Given the description of an element on the screen output the (x, y) to click on. 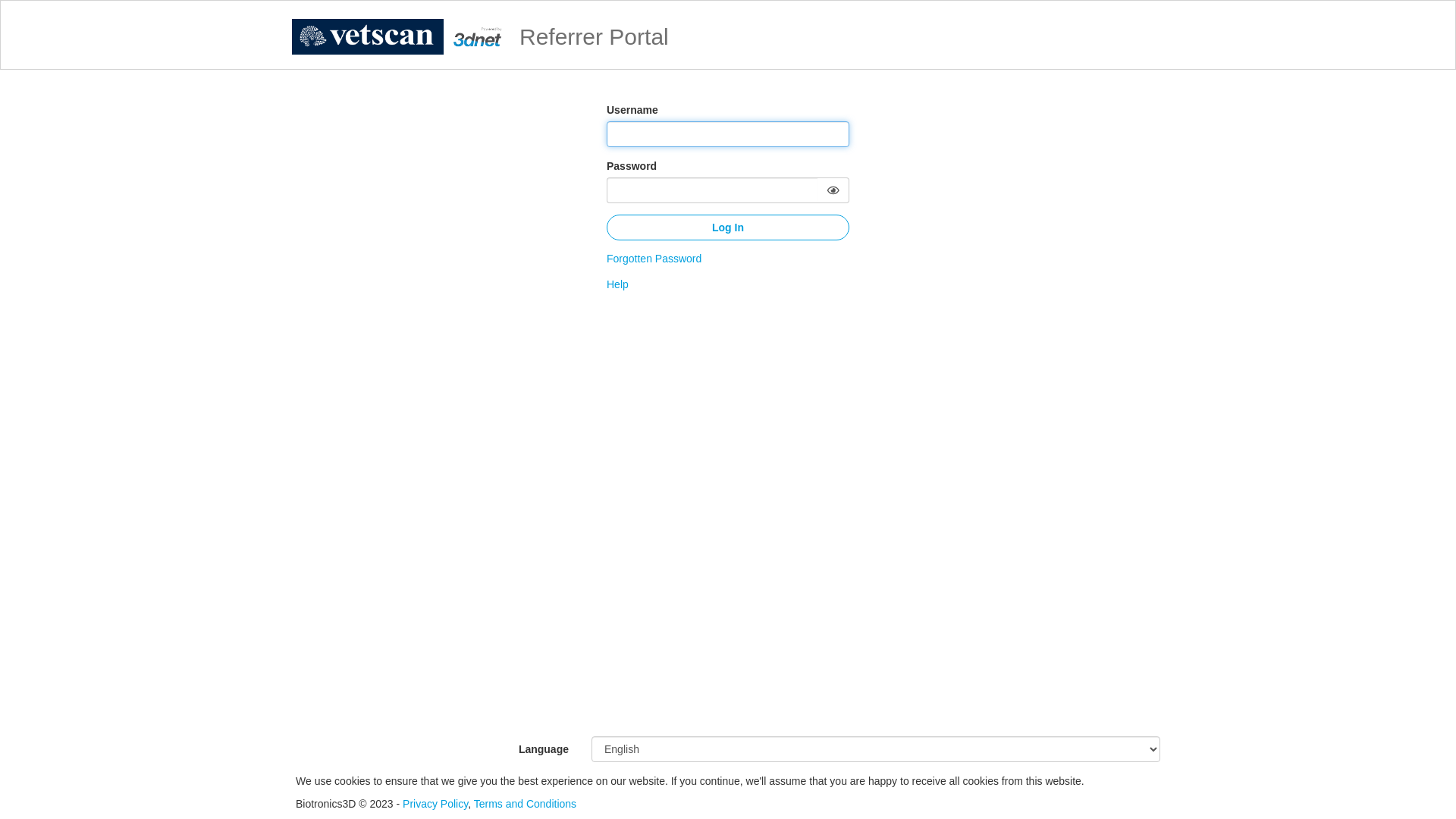
Terms and Conditions Element type: text (524, 803)
Privacy Policy Element type: text (434, 803)
Log In Element type: text (727, 227)
Help Element type: text (617, 284)
Forgotten Password Element type: text (653, 258)
